Given the description of an element on the screen output the (x, y) to click on. 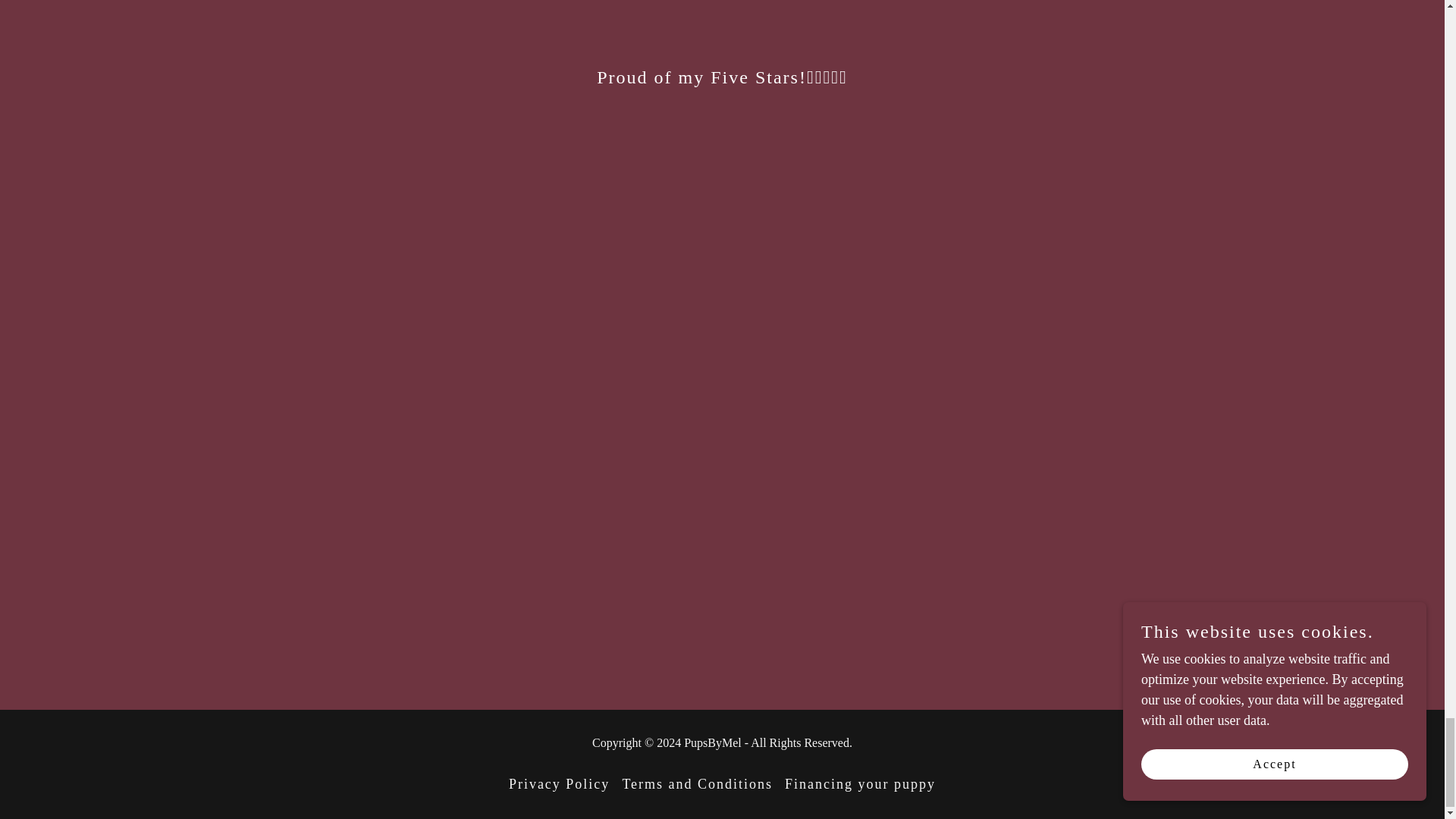
Privacy Policy (558, 784)
Terms and Conditions (696, 784)
Financing your puppy (860, 784)
